Given the description of an element on the screen output the (x, y) to click on. 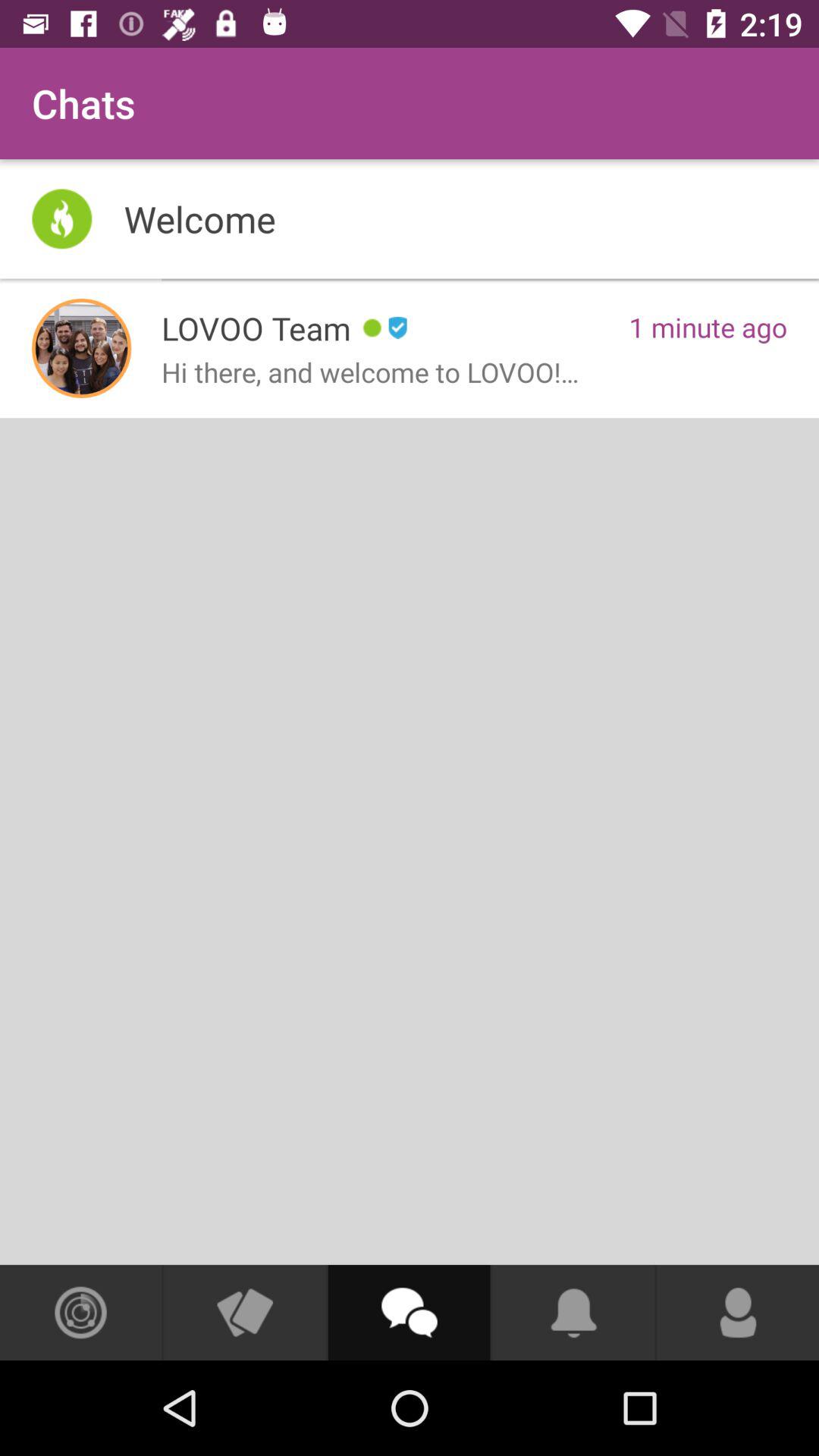
view people in the area (80, 1312)
